Given the description of an element on the screen output the (x, y) to click on. 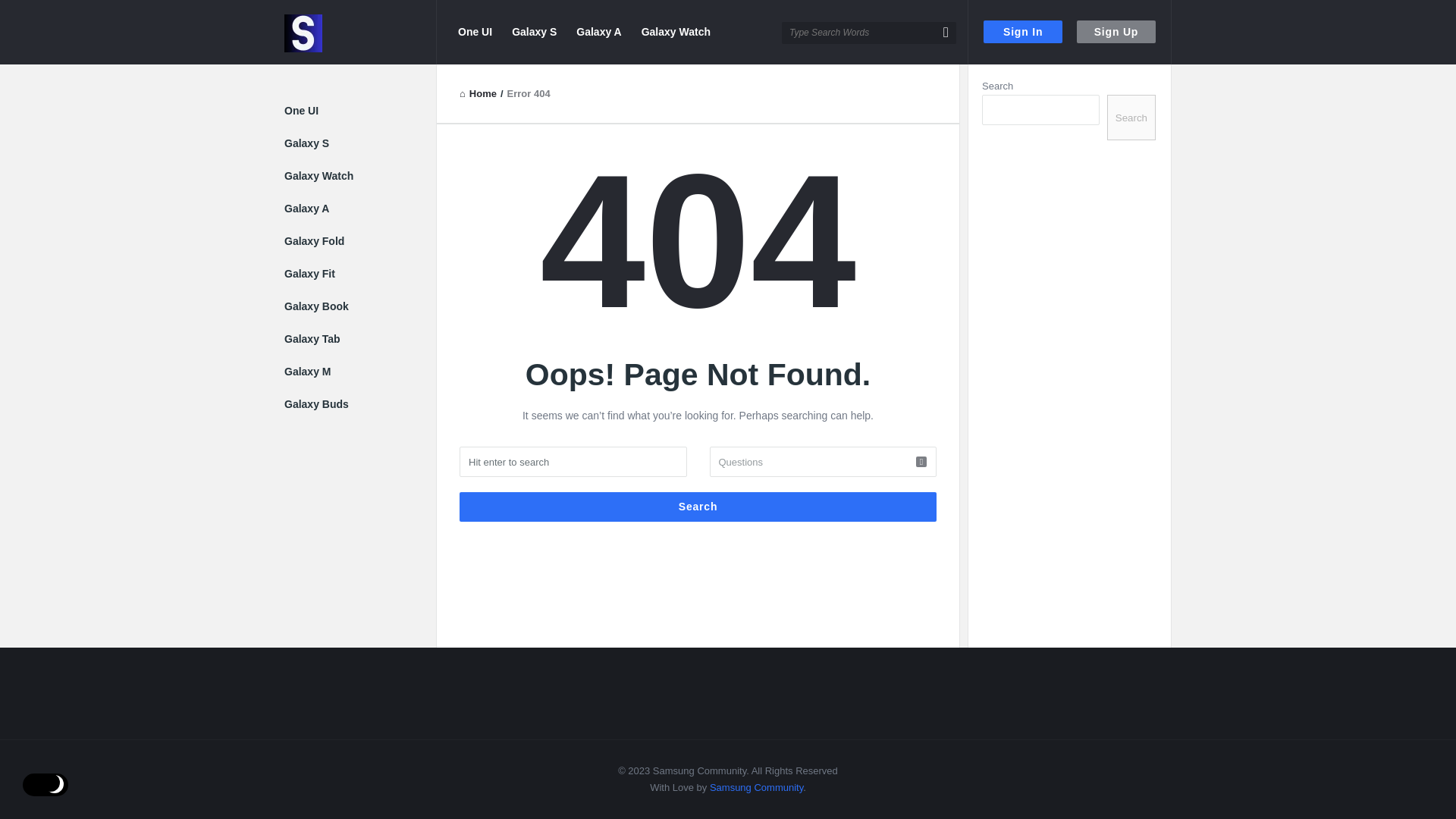
Galaxy A (598, 32)
Sign In (1023, 31)
Search (698, 506)
Hit enter to search (573, 461)
Galaxy S (533, 32)
Samsung Community (359, 32)
Search (698, 506)
Hit enter to search (573, 461)
One UI (300, 110)
Home (478, 93)
Sign Up (1116, 31)
Samsung Community (302, 33)
Galaxy Watch (675, 32)
One UI (474, 32)
Home (478, 93)
